Given the description of an element on the screen output the (x, y) to click on. 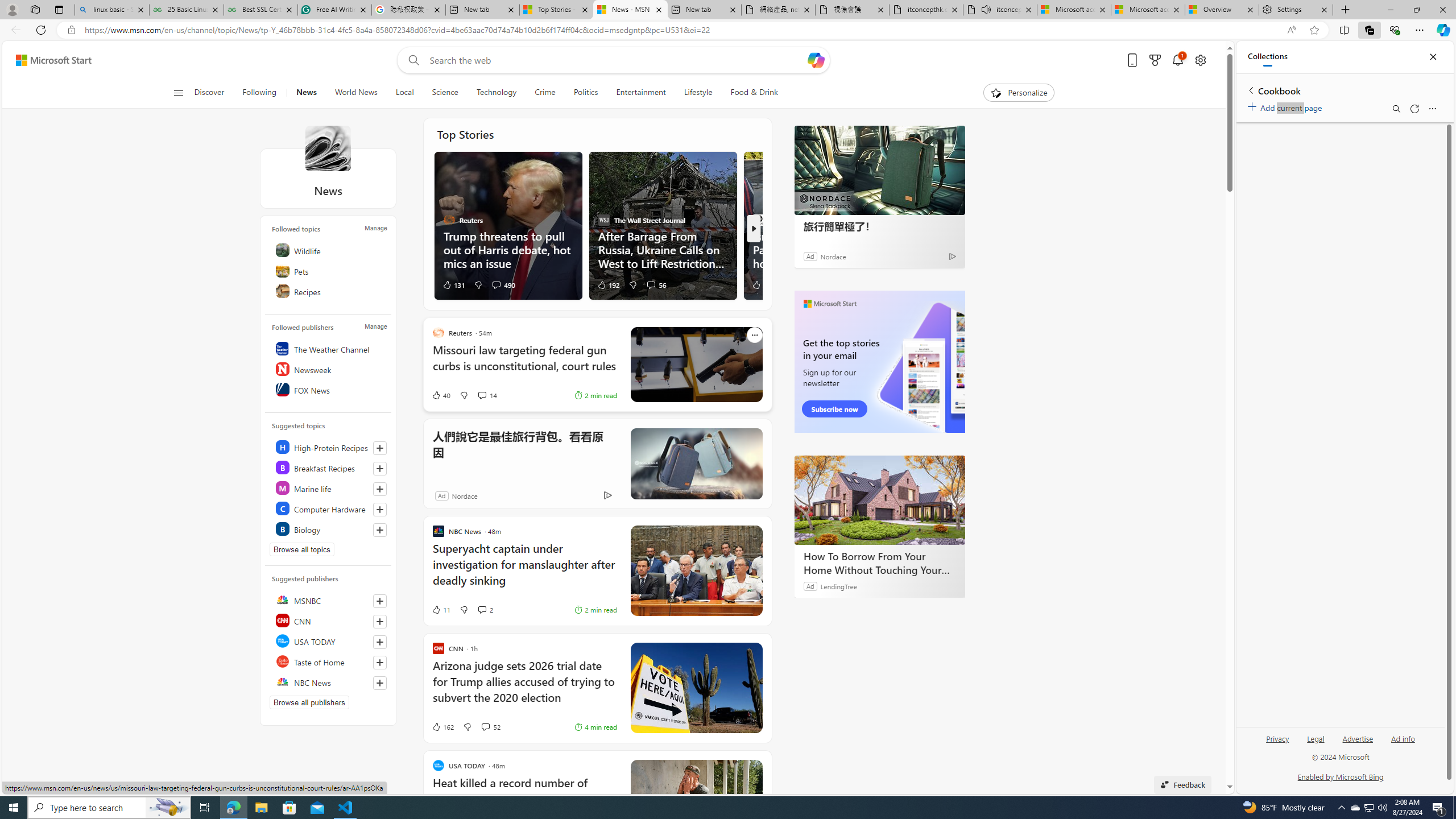
View comments 490 Comment (496, 284)
More options menu (1432, 108)
View comments 52 Comment (485, 726)
Heat killed a record number of Americans last year (524, 796)
Browse all topics (301, 549)
linux basic - Search (111, 9)
